Given the description of an element on the screen output the (x, y) to click on. 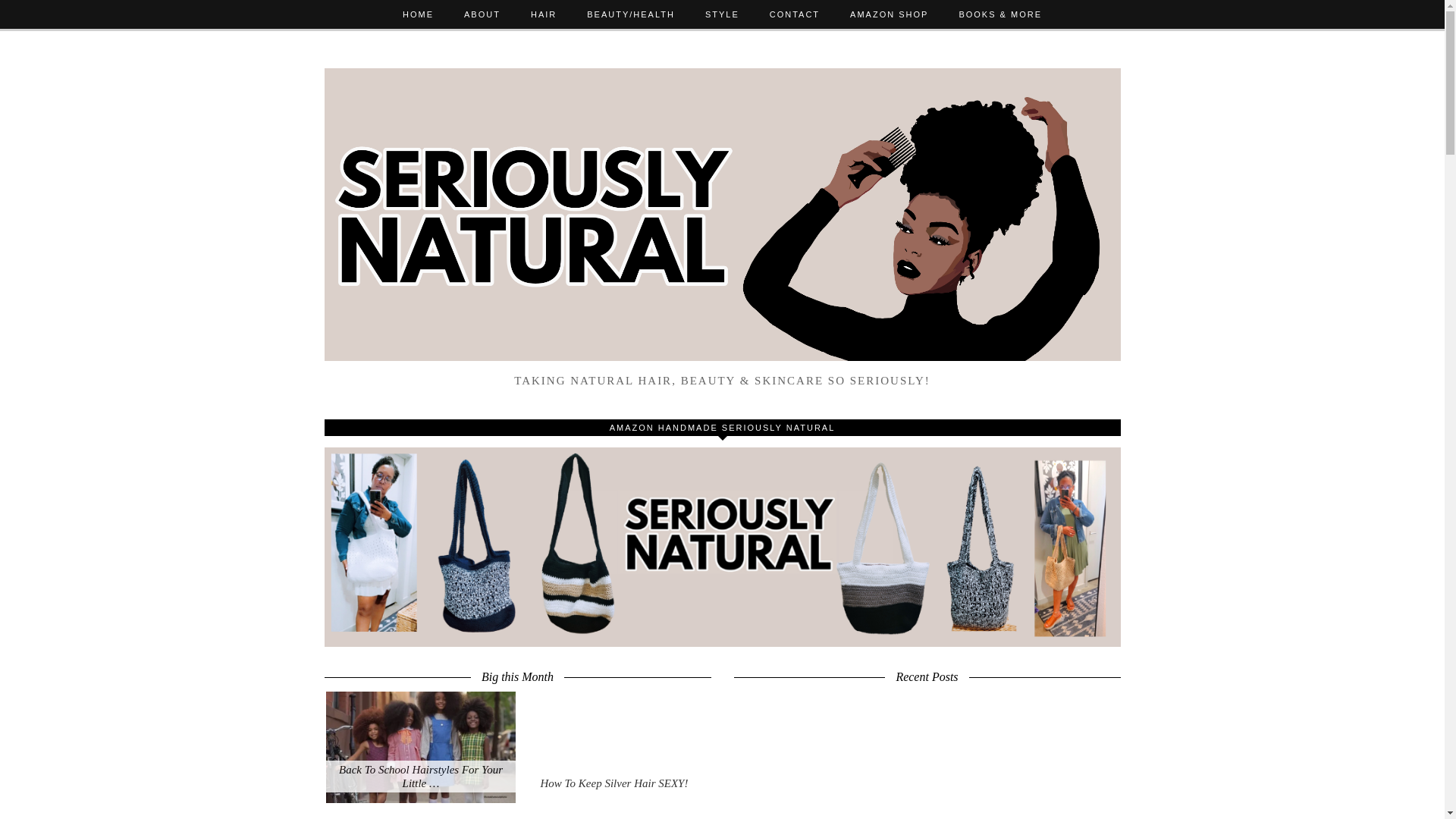
ABOUT (481, 14)
CONTACT (794, 14)
HAIR (543, 14)
STYLE (722, 14)
HOME (417, 14)
How To Keep Silver Hair SEXY! (614, 747)
AMAZON SHOP (888, 14)
5 Curly Girl Friendly Silicone-Free Heat Protectants (420, 812)
